Given the description of an element on the screen output the (x, y) to click on. 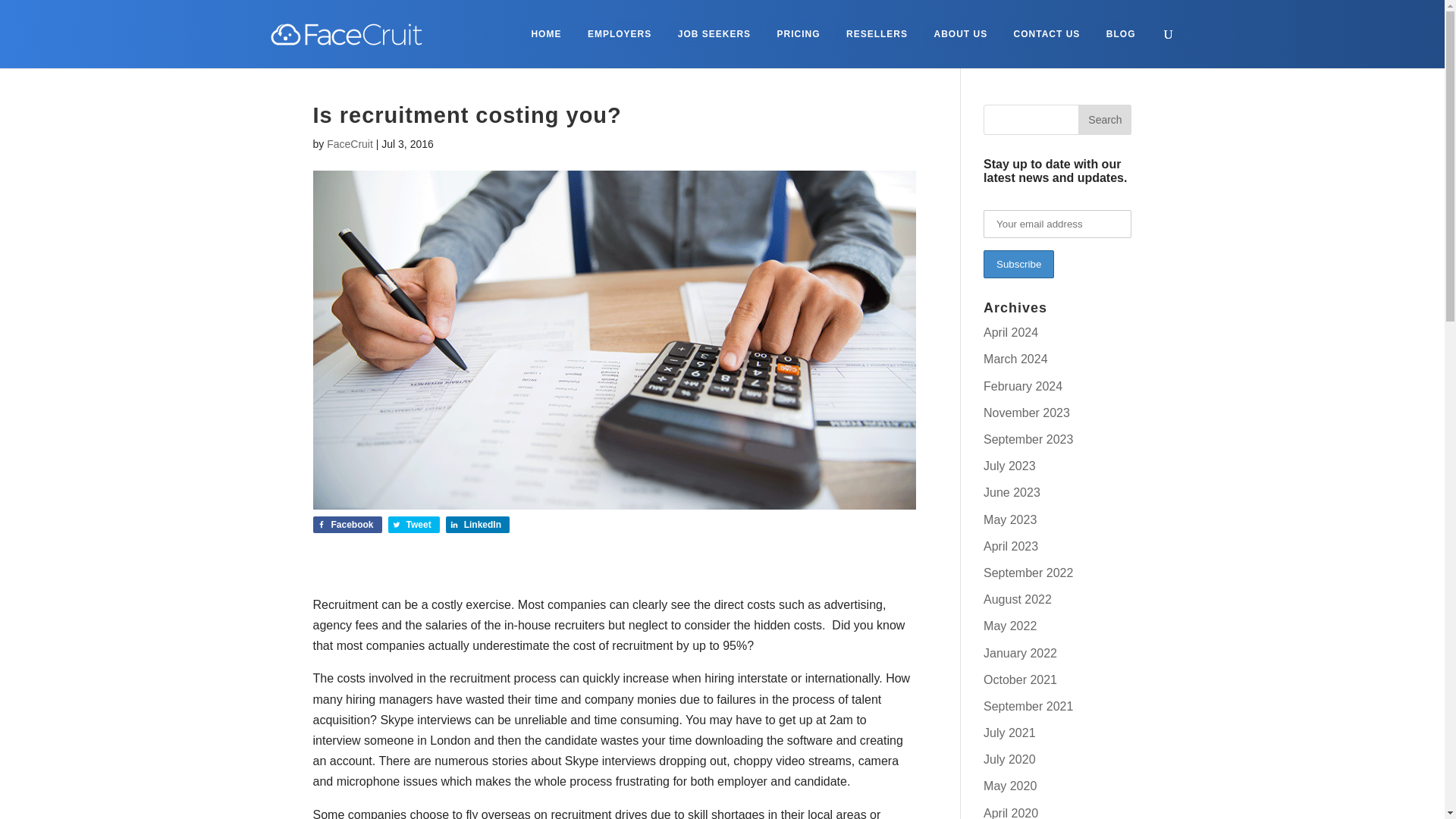
Posts by FaceCruit (349, 143)
September 2022 (1028, 572)
RESELLERS (877, 33)
EMPLOYERS (619, 33)
FaceCruit (349, 143)
May 2022 (1010, 625)
April 2023 (1011, 545)
BLOG (1121, 33)
Share on LinkedIn (477, 524)
February 2024 (1023, 386)
